Given the description of an element on the screen output the (x, y) to click on. 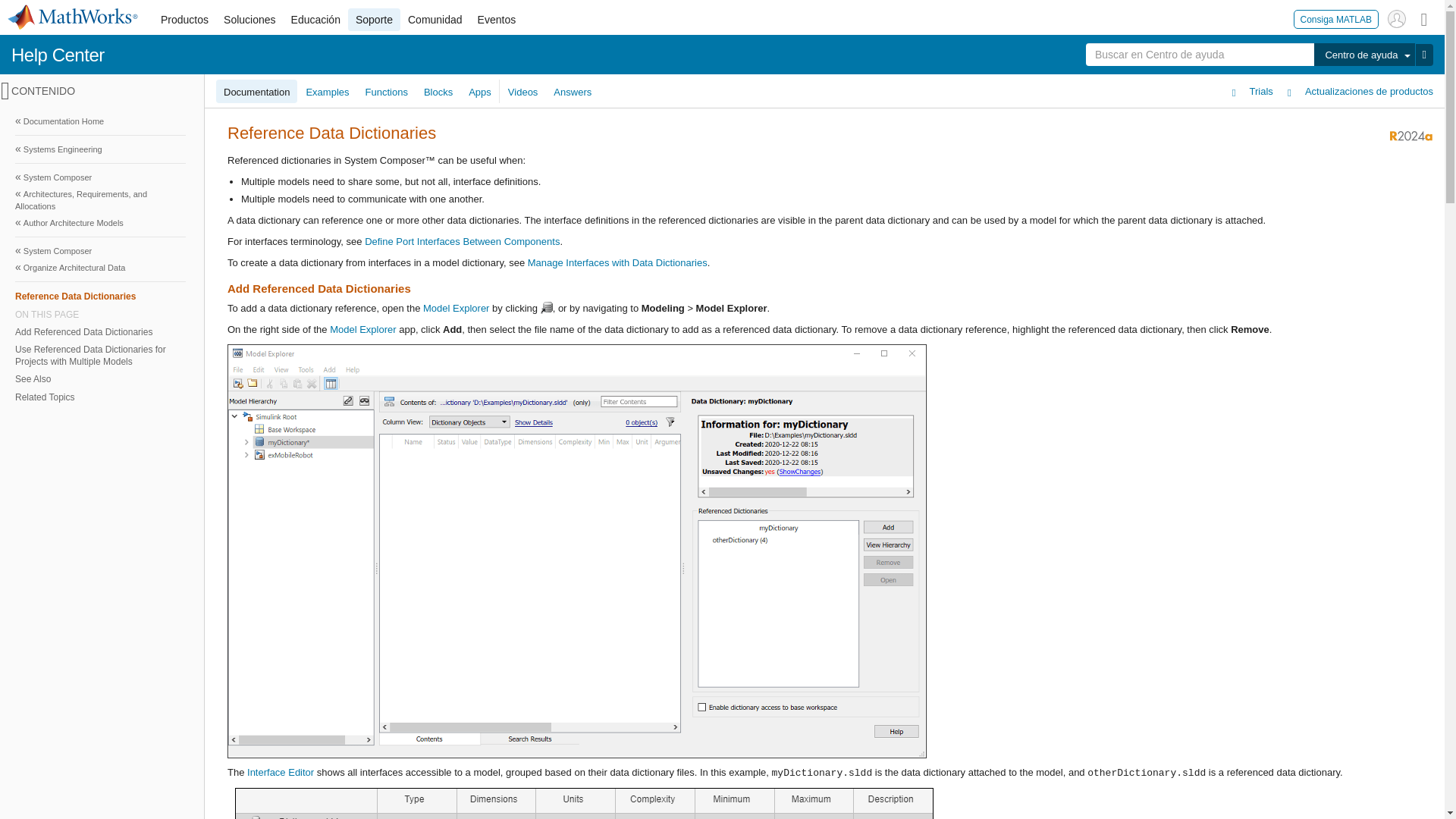
Comunidad (435, 19)
Productos (183, 19)
ON THIS PAGE (100, 314)
Consiga MATLAB (1336, 18)
Soluciones (249, 19)
Reference Data Dictionaries (100, 295)
Matrix Menu (1423, 18)
Eventos (497, 19)
Soporte (373, 19)
